Given the description of an element on the screen output the (x, y) to click on. 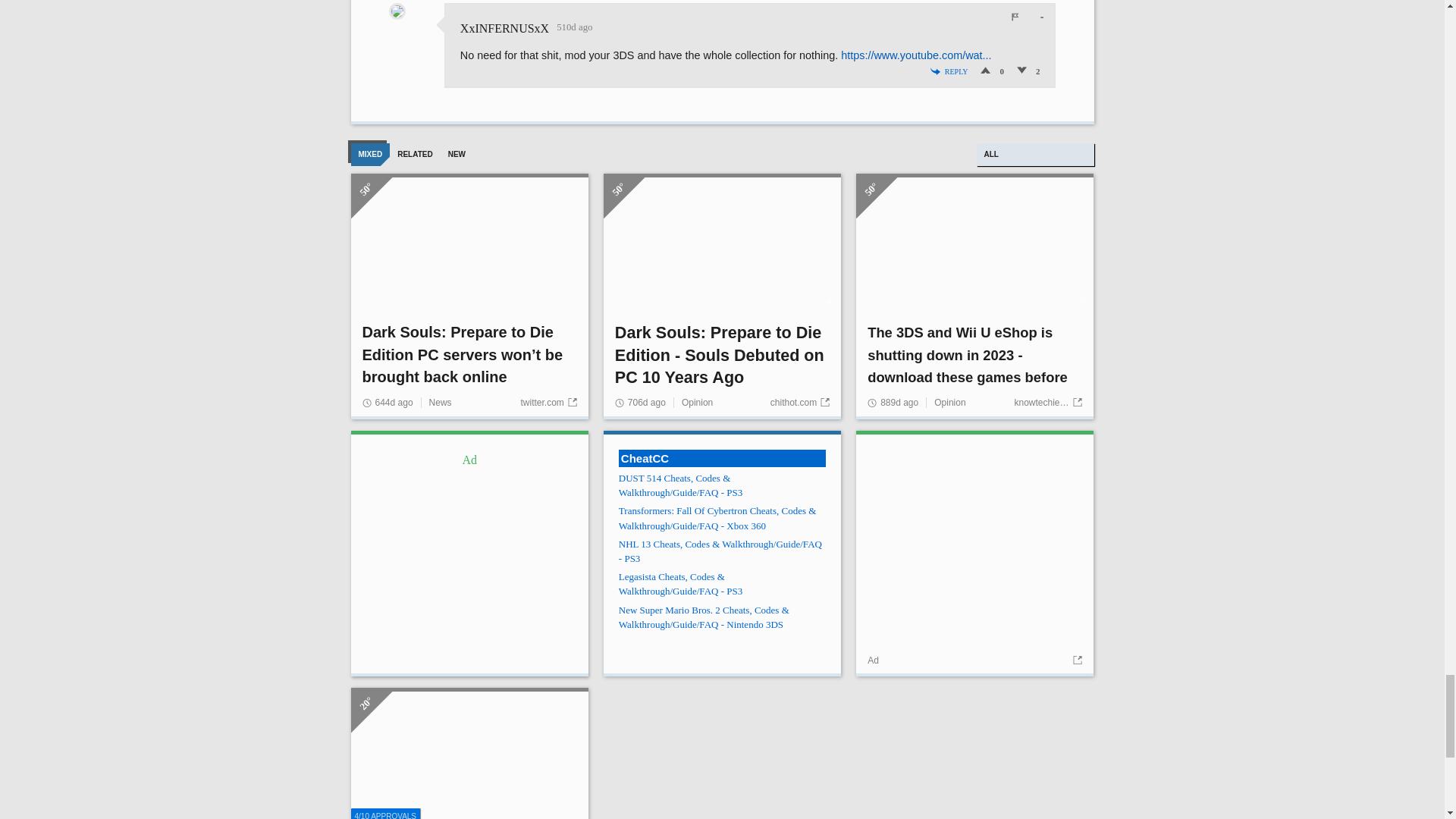
Go to source (1074, 660)
Go to source: knowtechie.com (1047, 402)
Go to source: chithot.com (799, 402)
Go to source: twitter.com (547, 402)
